Given the description of an element on the screen output the (x, y) to click on. 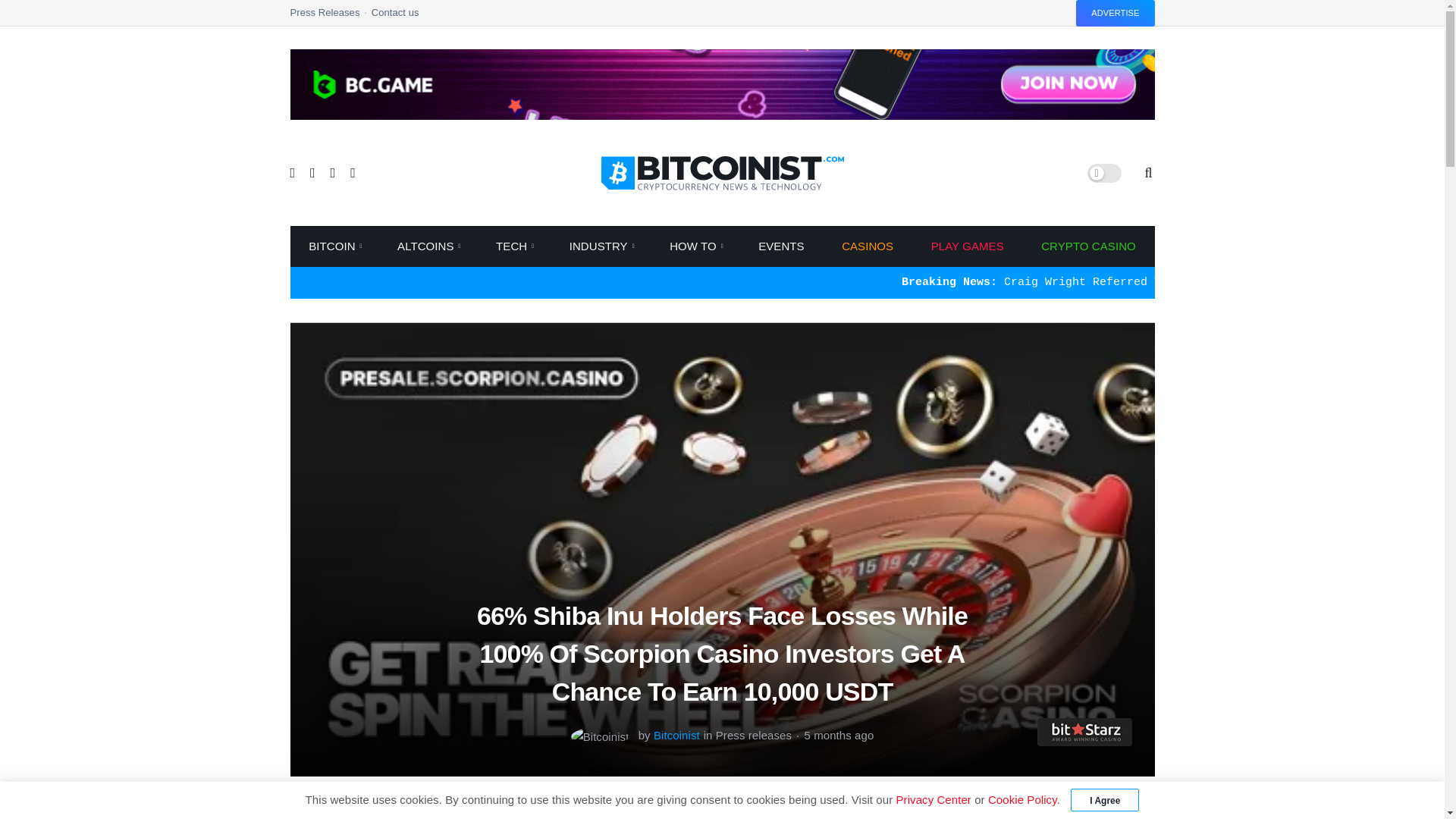
ADVERTISE (1114, 13)
Contact us (395, 17)
BITCOIN (333, 246)
INDUSTRY (600, 246)
Press Releases (330, 17)
ALTCOINS (427, 246)
TECH (513, 246)
HOW TO (694, 246)
